Given the description of an element on the screen output the (x, y) to click on. 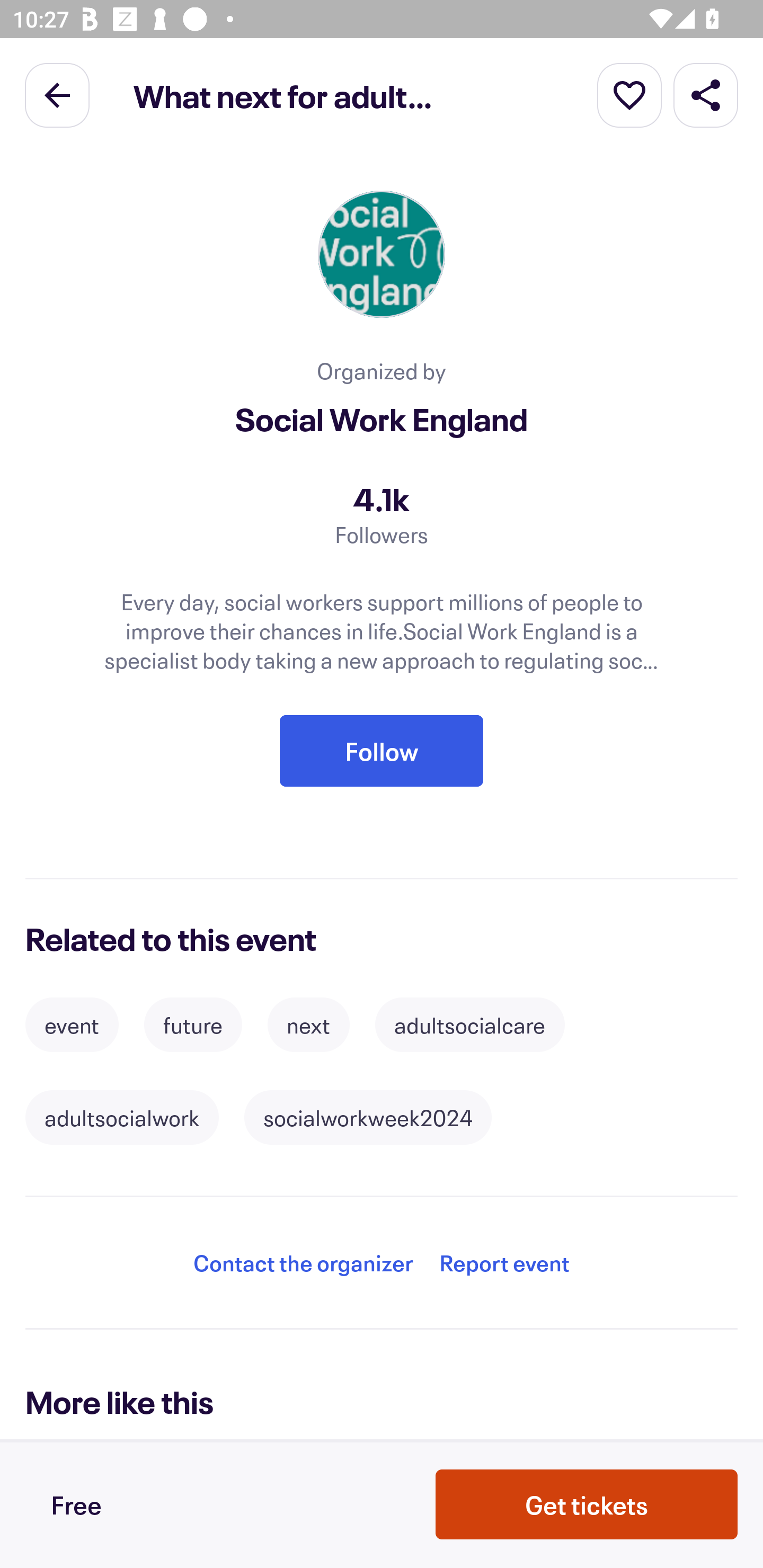
Back (57, 94)
More (629, 94)
Share (705, 94)
Organizer profile picture (381, 254)
Social Work England (381, 419)
Follow (381, 750)
event (72, 1024)
future (192, 1024)
next (308, 1024)
adultsocialcare (469, 1024)
adultsocialwork (121, 1117)
socialworkweek2024 (367, 1117)
Contact the organizer (303, 1262)
Report event (504, 1262)
Get tickets (586, 1504)
